Given the description of an element on the screen output the (x, y) to click on. 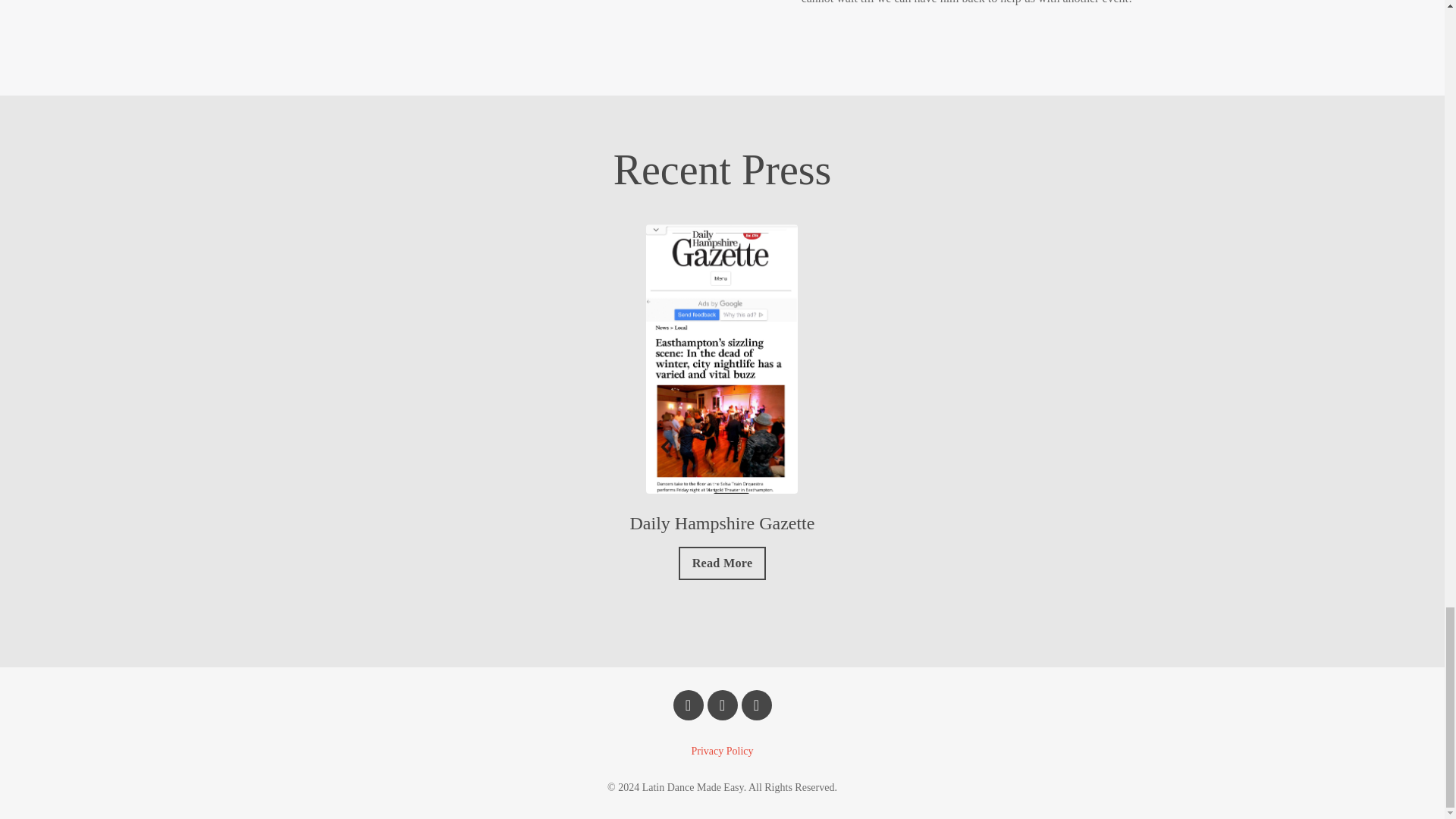
Privacy Policy (721, 750)
Read More (722, 563)
